Given the description of an element on the screen output the (x, y) to click on. 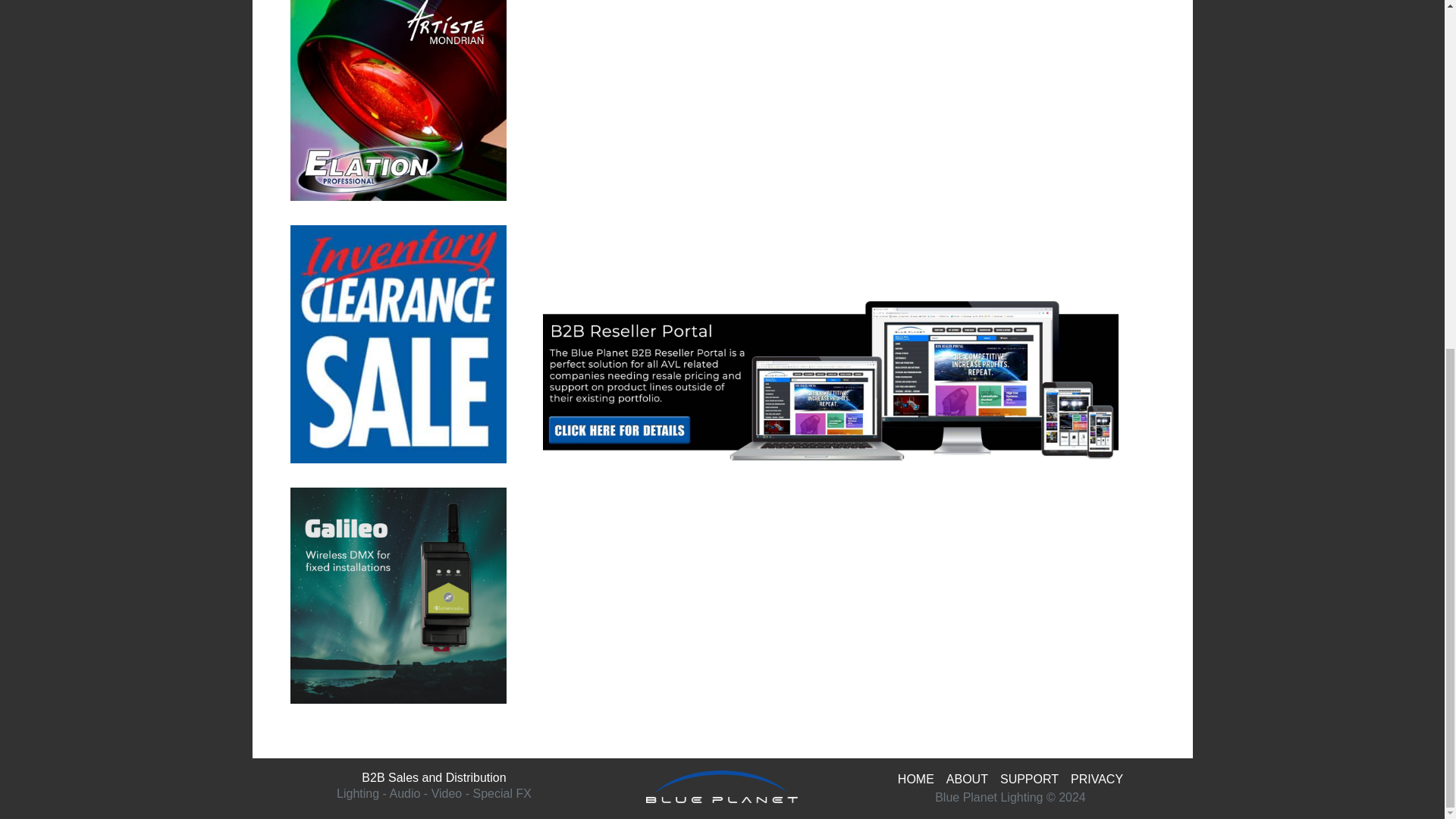
Resller-Banner1 (830, 380)
